Given the description of an element on the screen output the (x, y) to click on. 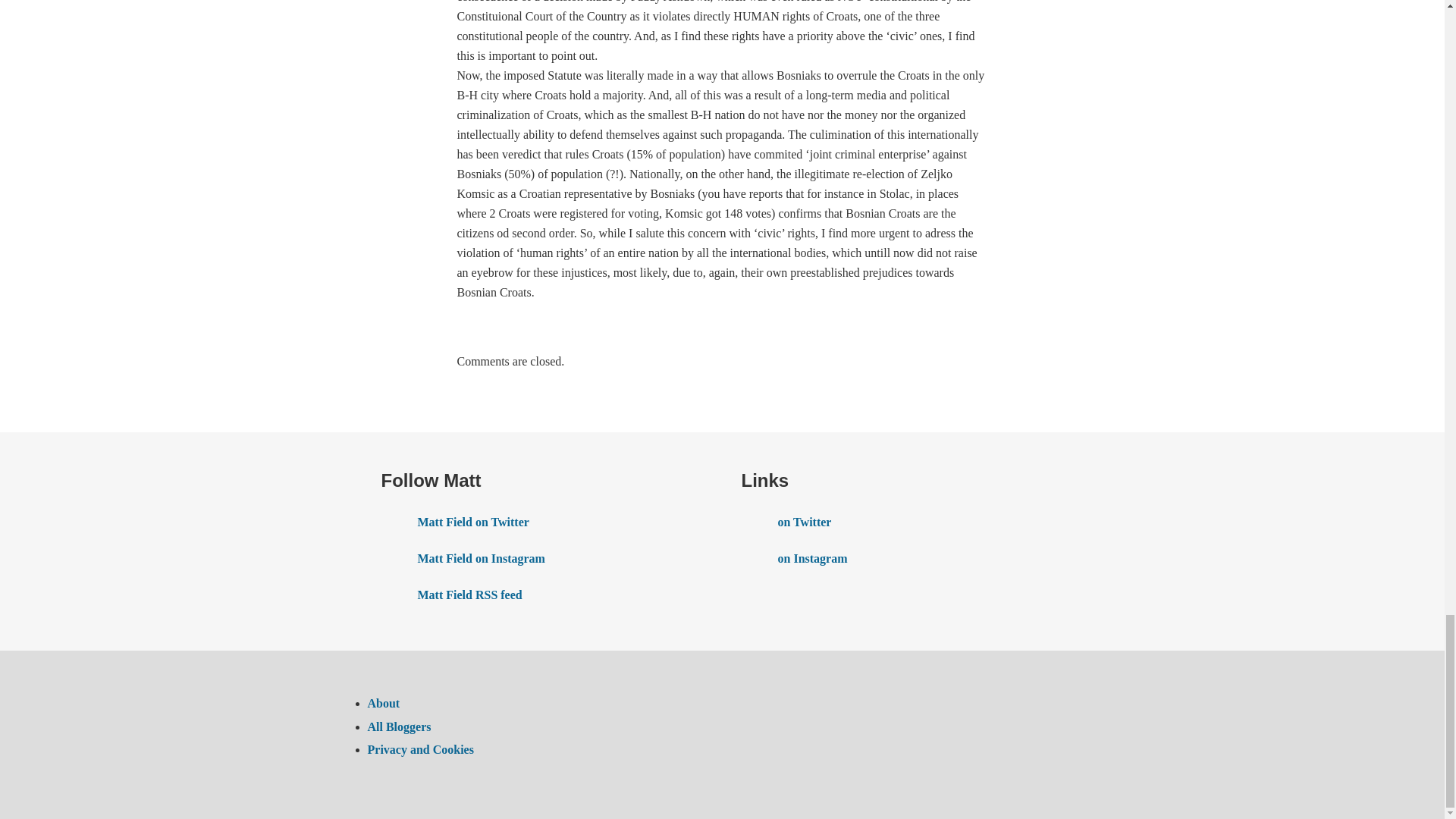
All Bloggers (398, 726)
Matt Field RSS feed (541, 594)
Matt Field on Twitter (541, 521)
About (382, 703)
Privacy and Cookies (419, 748)
Matt Field on Instagram (541, 557)
on Instagram (902, 557)
on Twitter (902, 521)
